Given the description of an element on the screen output the (x, y) to click on. 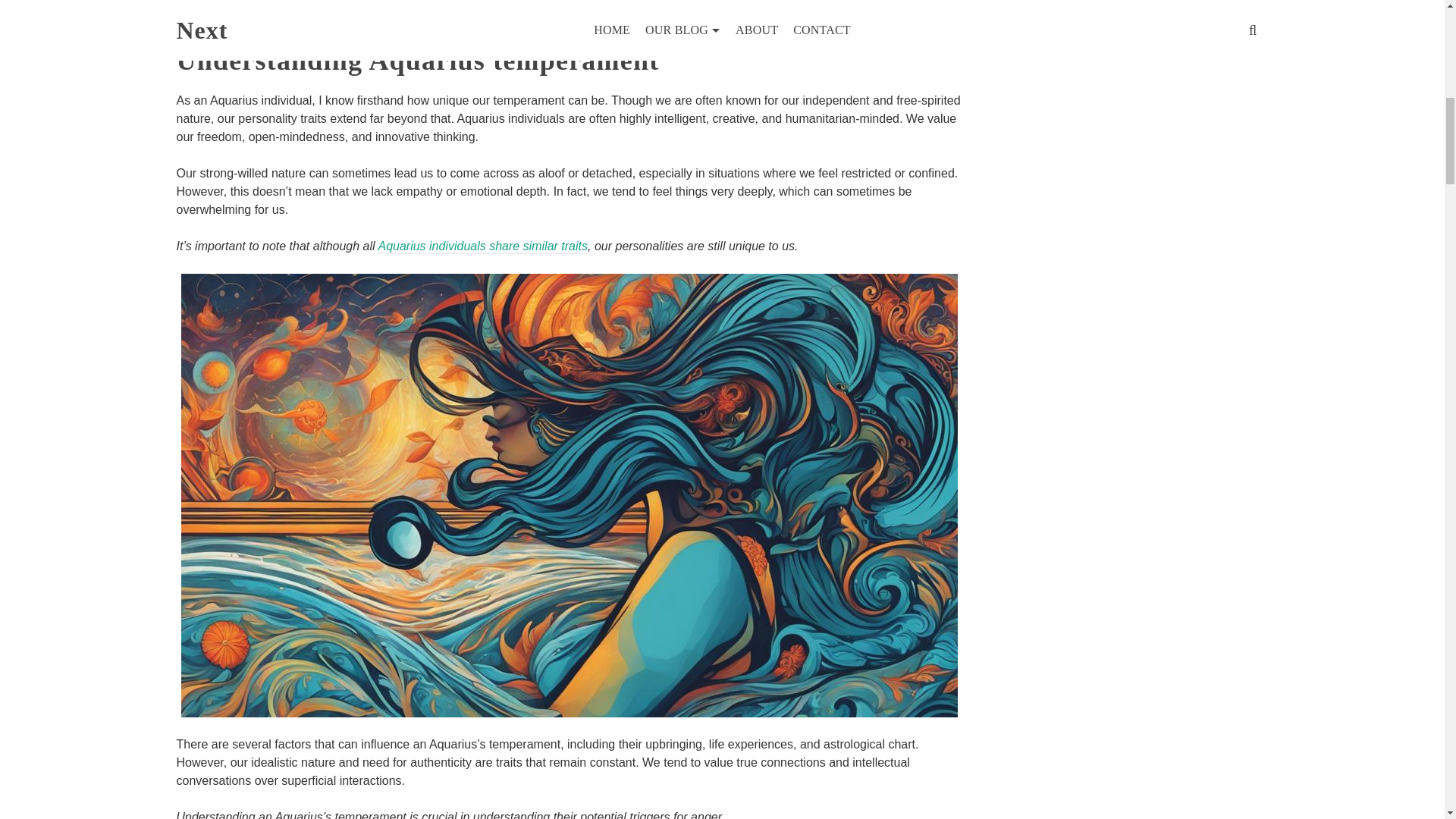
Aquarius individuals share similar traits (482, 246)
